Given the description of an element on the screen output the (x, y) to click on. 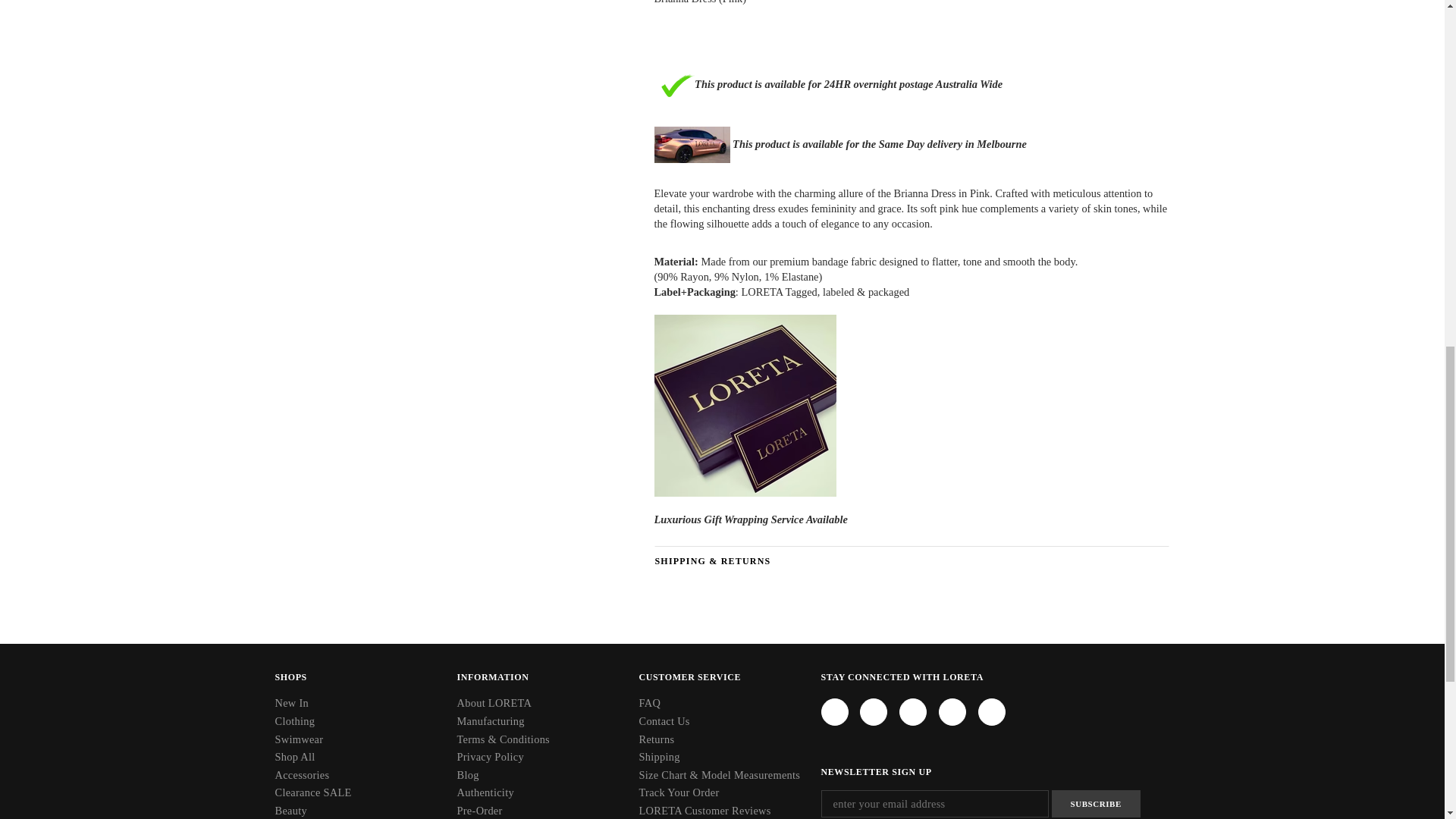
Instagram (873, 711)
Snapchat (952, 711)
YouTube (992, 711)
Pinterest (912, 711)
Subscribe (1095, 803)
Facebook (834, 711)
